Given the description of an element on the screen output the (x, y) to click on. 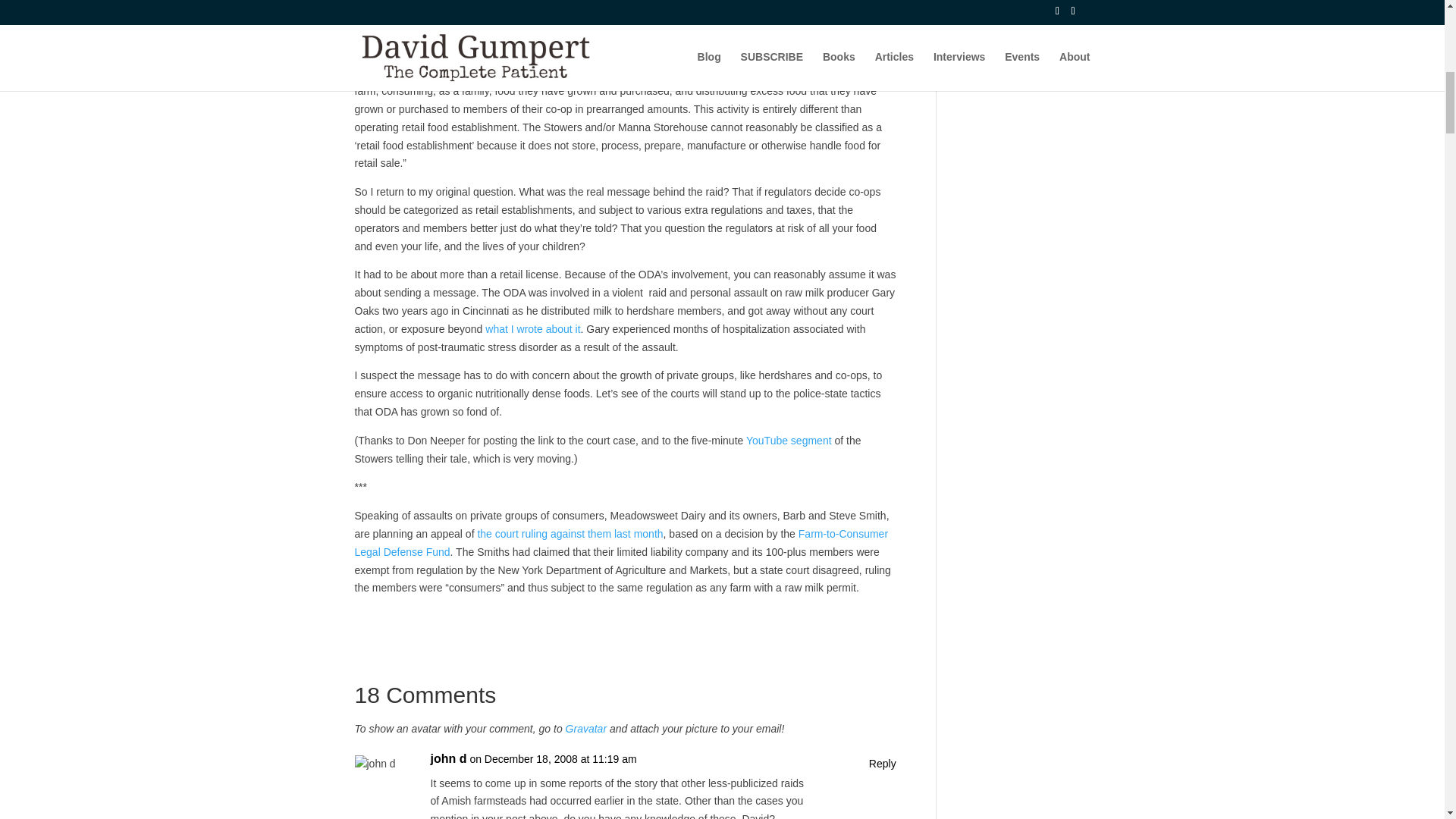
YouTube segment (788, 440)
Reply (882, 764)
what I wrote about it (531, 328)
Farm-to-Consumer Legal Defense Fund (621, 542)
the court ruling against them last month (569, 533)
Gravatar (586, 728)
